Given the description of an element on the screen output the (x, y) to click on. 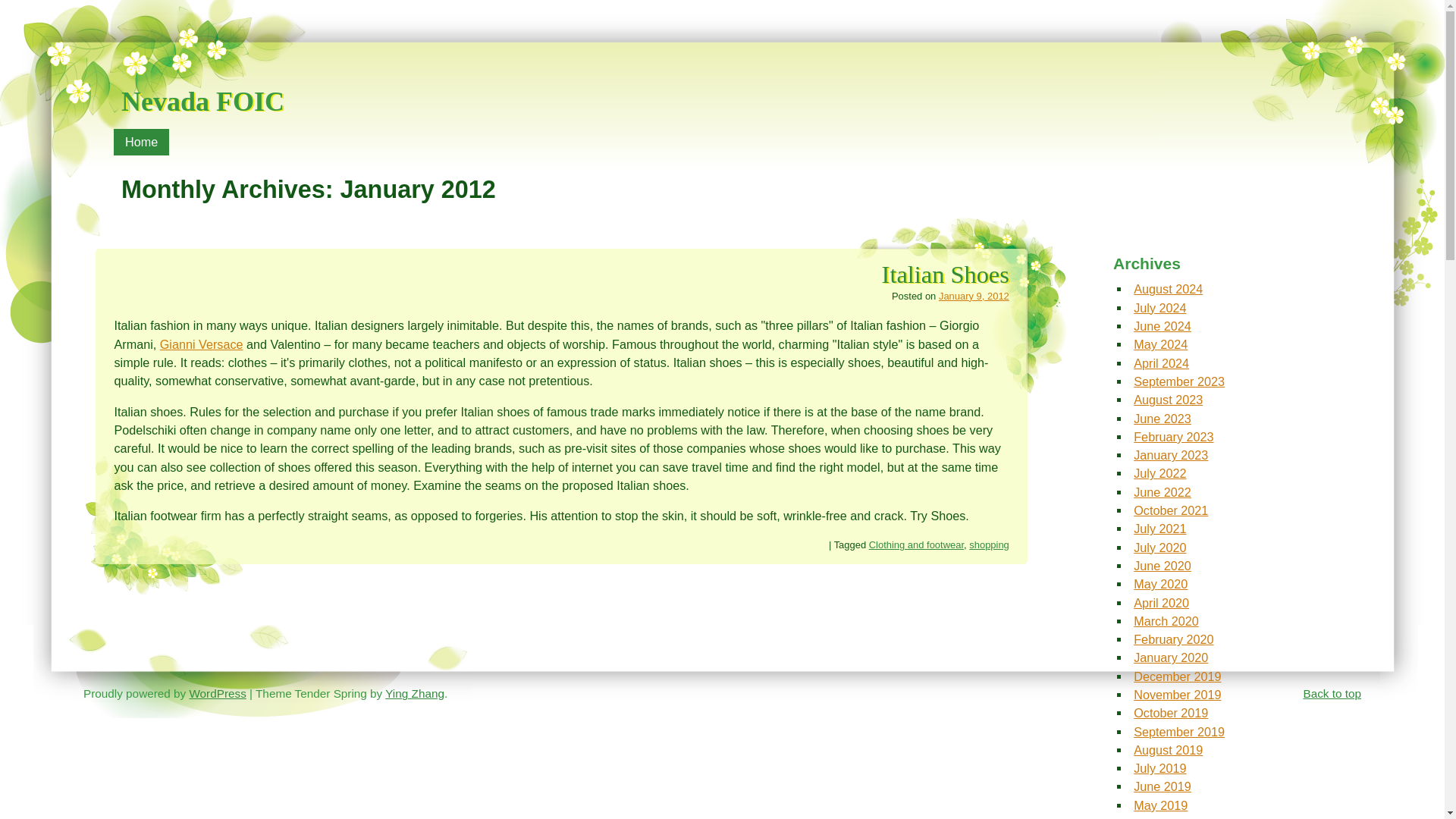
Home (140, 141)
January 2020 (1171, 657)
shopping (989, 544)
Nevada FOIC (201, 87)
October 2021 (1171, 509)
July 2019 (1160, 767)
May 2024 (1161, 344)
June 2019 (1162, 786)
August 2019 (1168, 749)
A Semantic Personal Publishing Platform (217, 693)
